Given the description of an element on the screen output the (x, y) to click on. 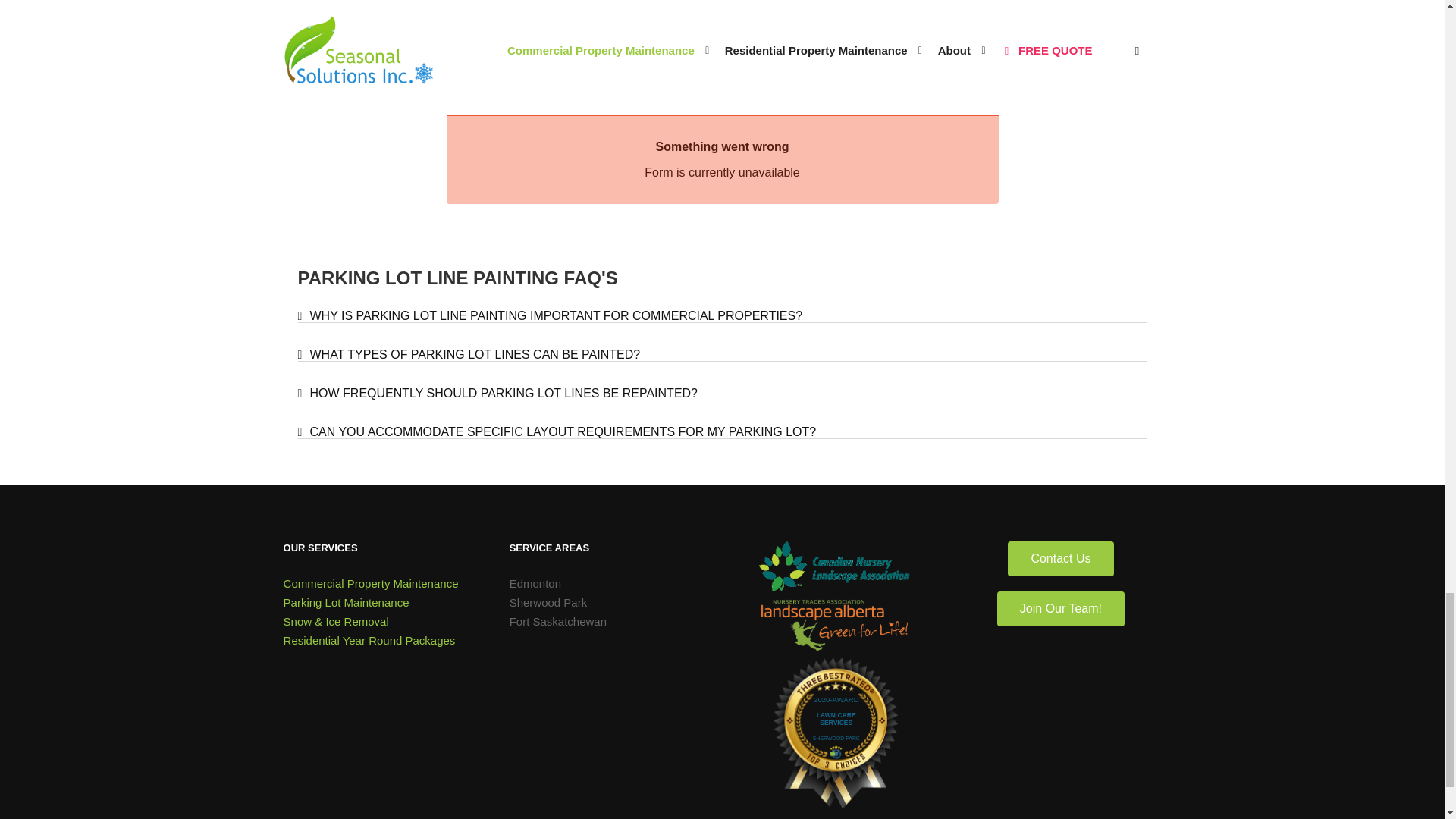
Join Our Team! (1060, 608)
Contact Us (1060, 558)
Commercial Property Maintenance (382, 583)
Parking Lot Maintenance (382, 601)
HOW FREQUENTLY SHOULD PARKING LOT LINES BE REPAINTED? (502, 392)
WHAT TYPES OF PARKING LOT LINES CAN BE PAINTED? (474, 354)
Residential Year Round Packages (382, 640)
